Given the description of an element on the screen output the (x, y) to click on. 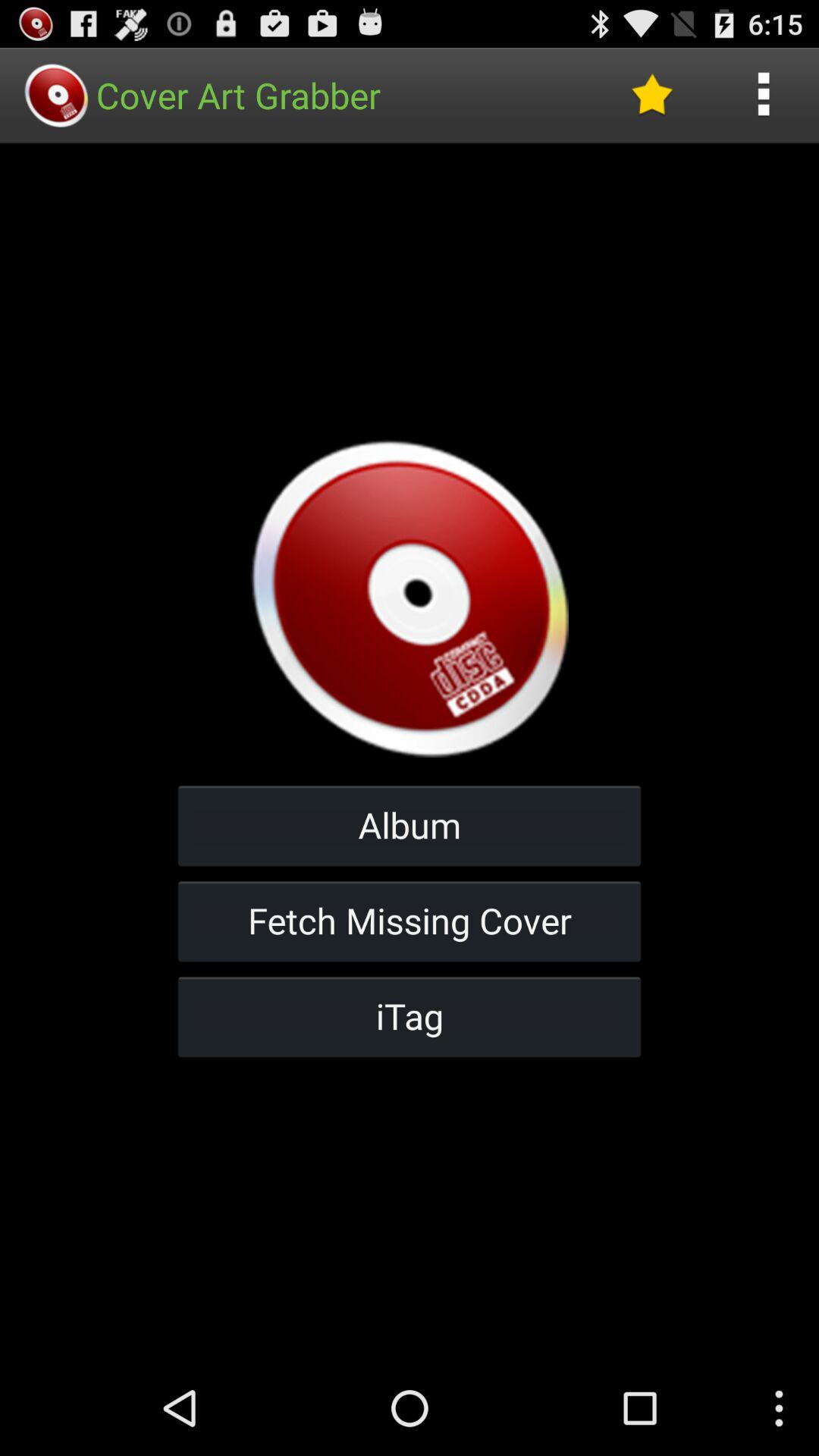
launch itag icon (409, 1016)
